Given the description of an element on the screen output the (x, y) to click on. 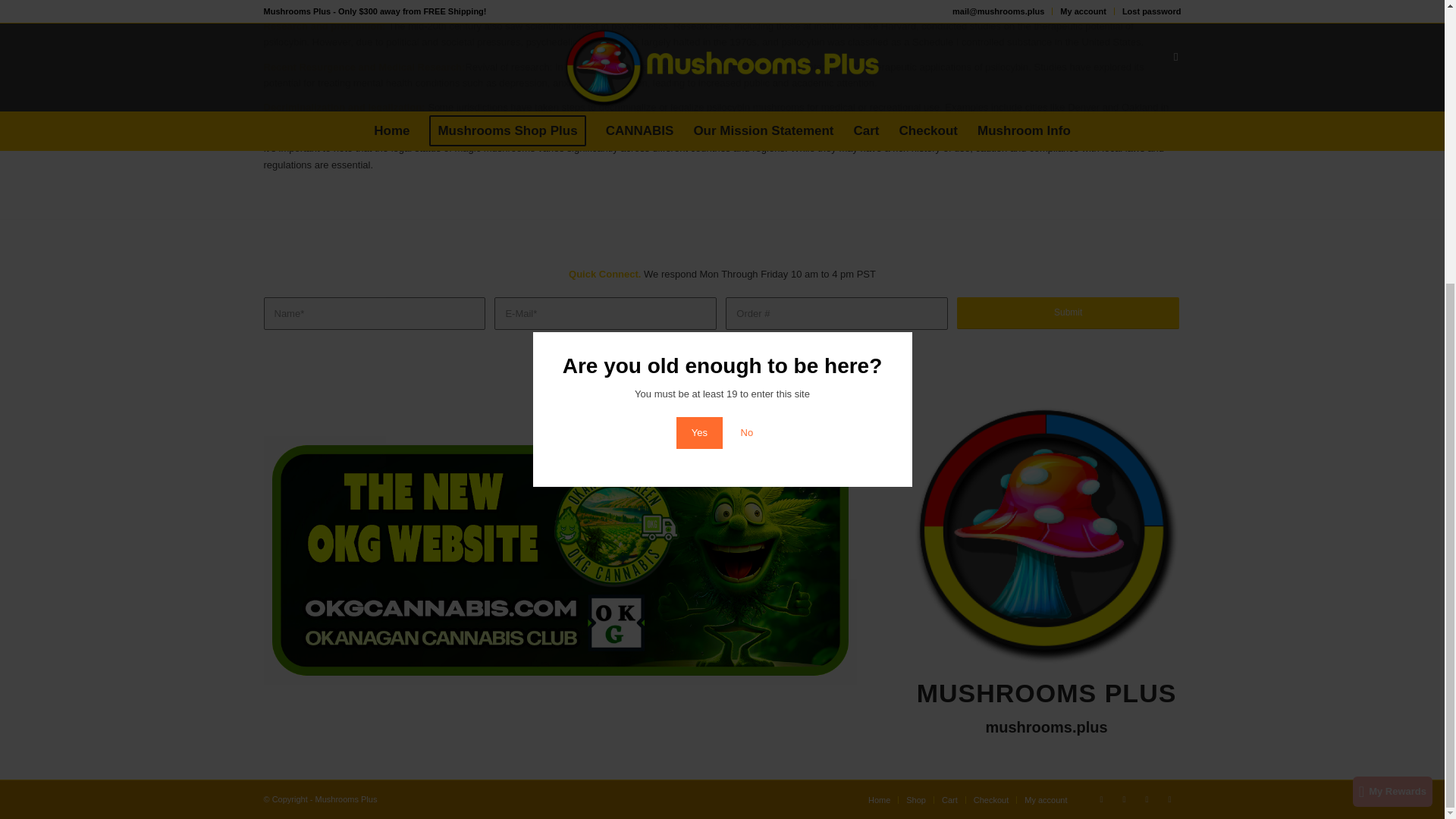
Submit (1067, 313)
No (746, 11)
My account (1046, 799)
Facebook (1124, 798)
Submit (1067, 313)
Yes (699, 11)
Twitter (1101, 798)
Reddit (1146, 798)
Home (878, 799)
Checkout (991, 799)
